Given the description of an element on the screen output the (x, y) to click on. 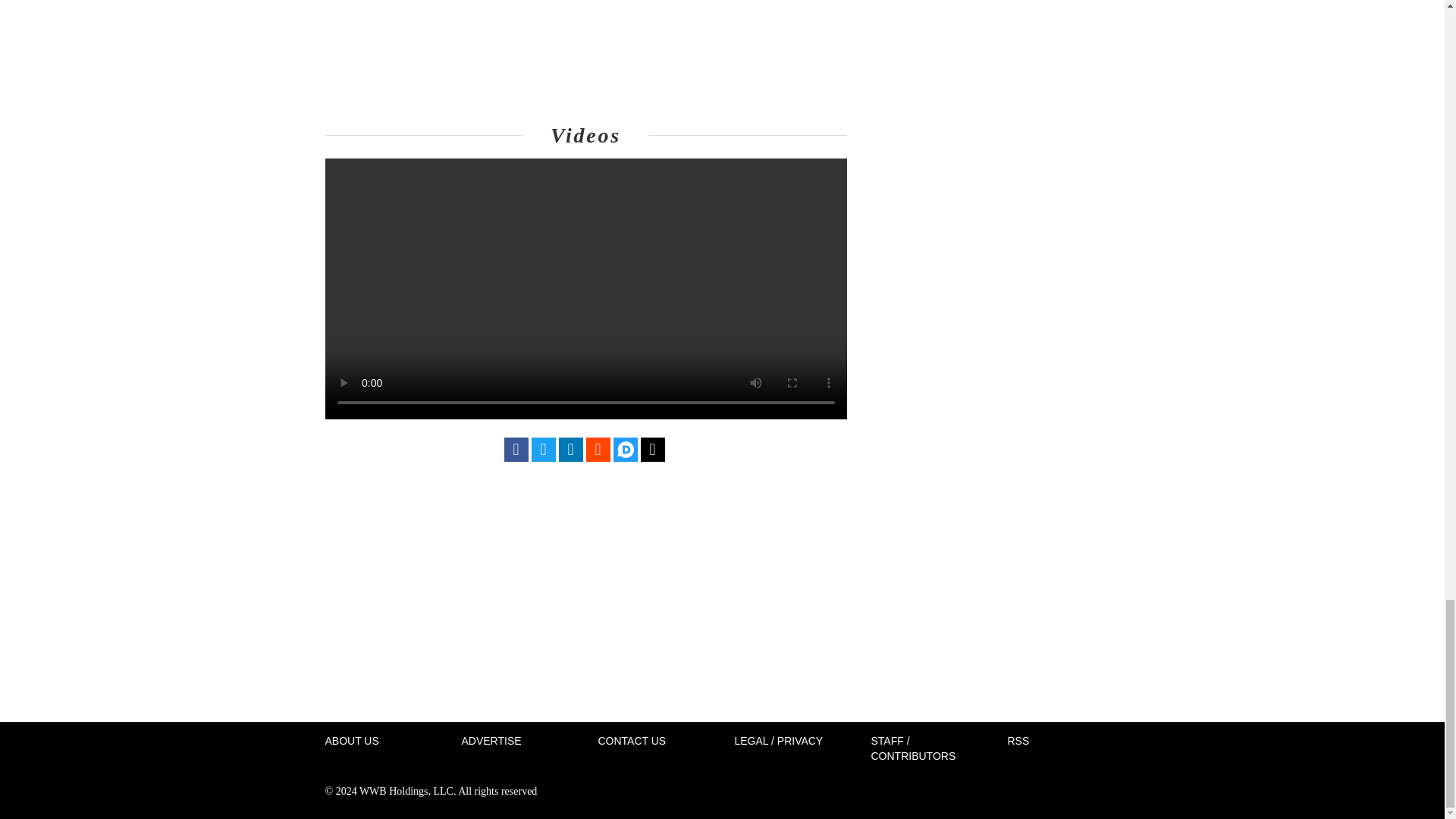
Twitter (542, 449)
Facebook (515, 449)
Reddit (597, 449)
Email (651, 449)
LinkedIn (569, 449)
